Given the description of an element on the screen output the (x, y) to click on. 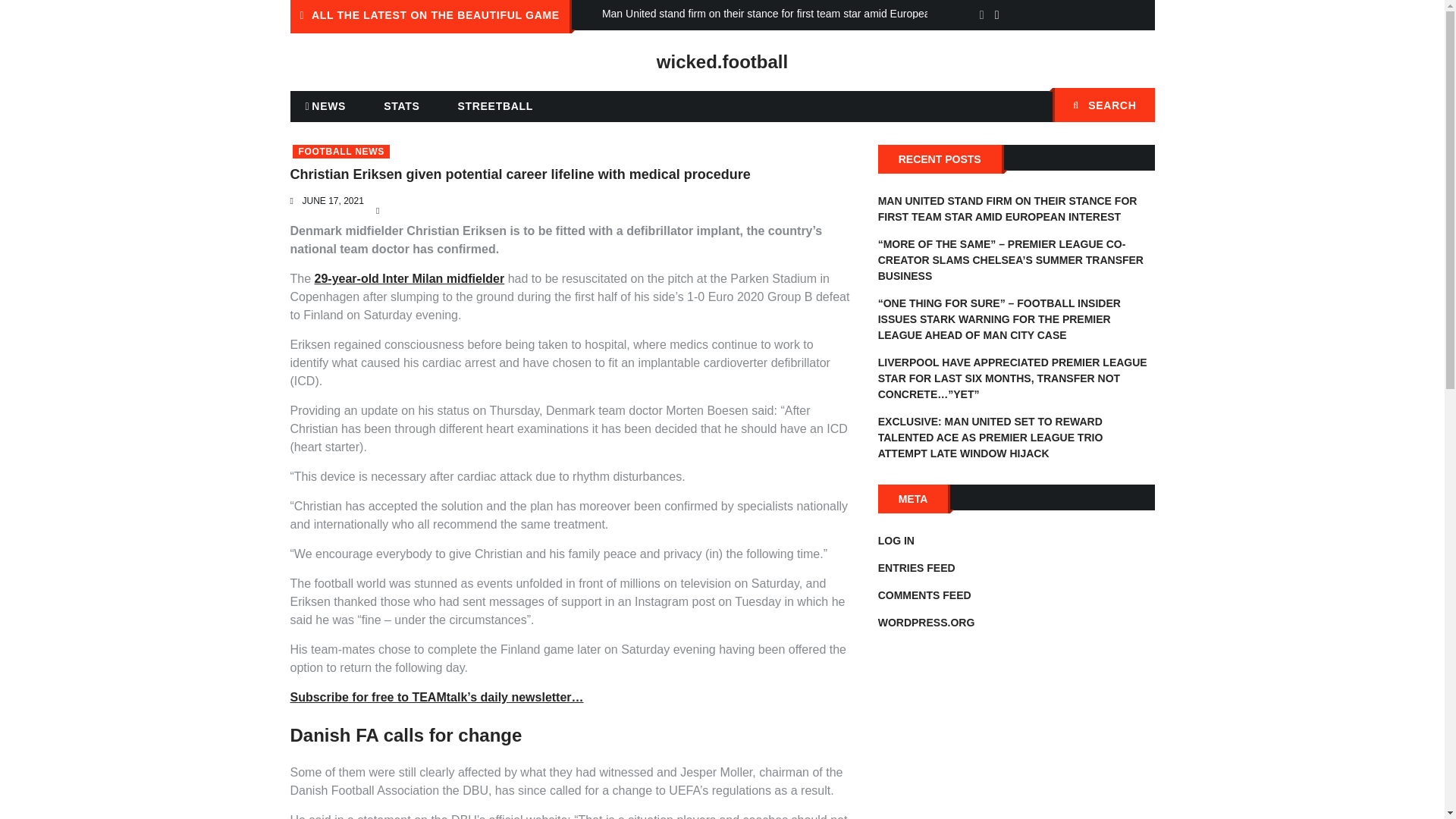
COMMENTS FEED (924, 594)
ENTRIES FEED (916, 567)
WORDPRESS.ORG (926, 622)
FOOTBALL NEWS (341, 151)
STREETBALL (495, 105)
29-year-old Inter Milan midfielder (409, 278)
NEWS (325, 106)
JUNE 17, 2021 (331, 200)
